Given the description of an element on the screen output the (x, y) to click on. 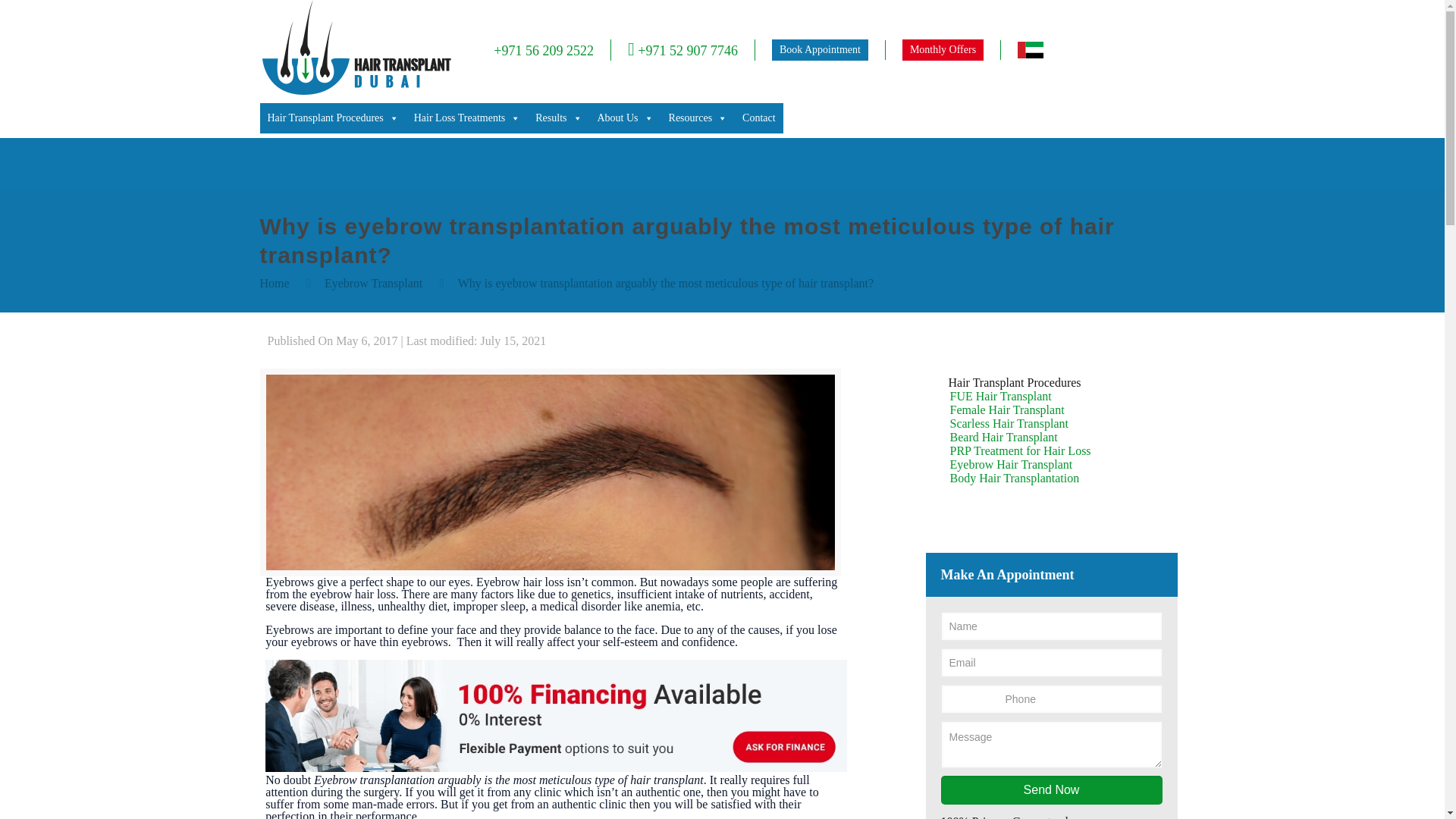
Monthly Offers (943, 49)
Send Now (1050, 789)
Hair Transplant Procedures (332, 118)
Hair Transplant Dubai  (355, 91)
Book Appointment (819, 49)
Hair Loss Treatments (467, 118)
